Given the description of an element on the screen output the (x, y) to click on. 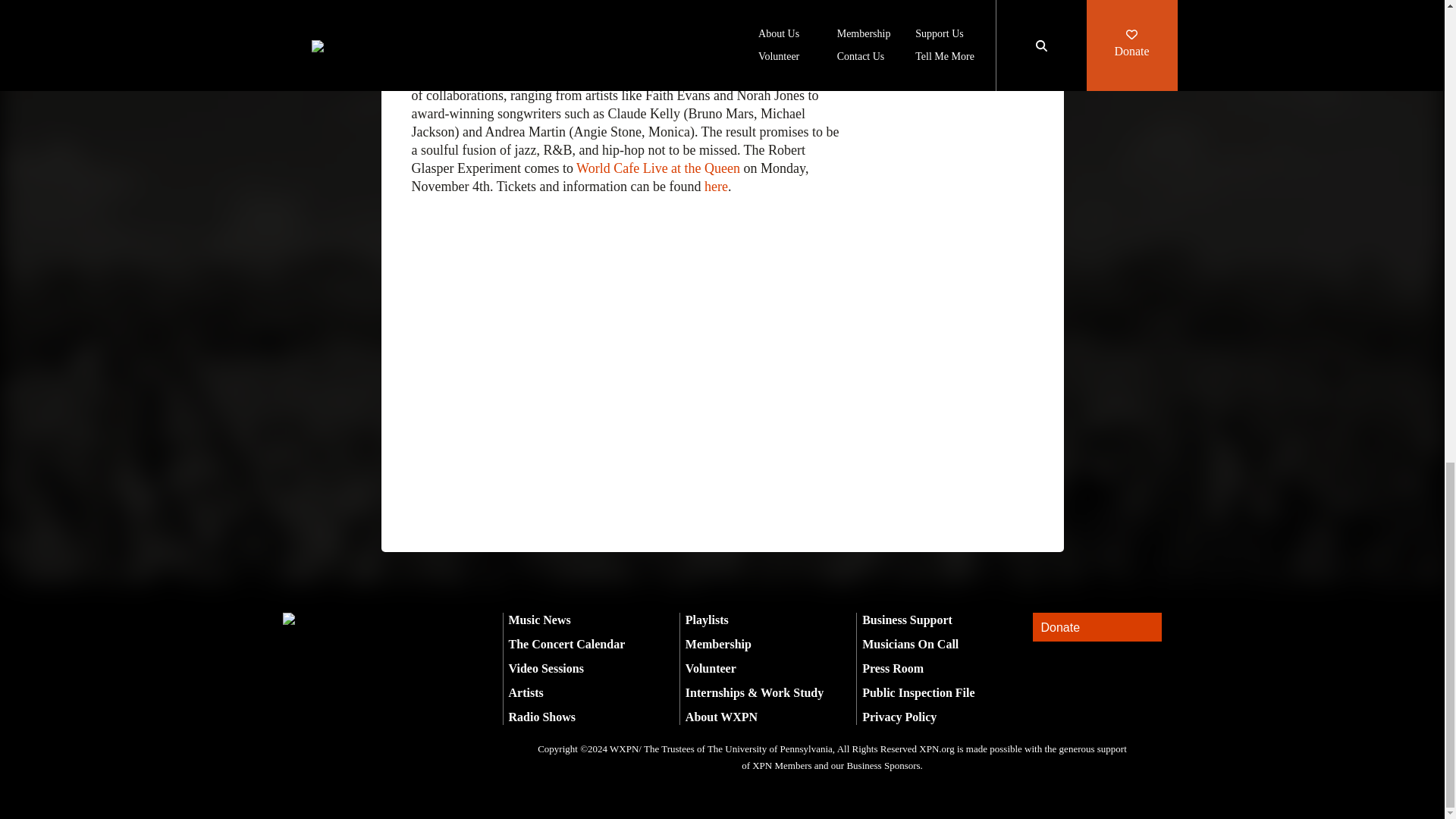
Business Support (906, 619)
About WXPN (721, 716)
Video Sessions (545, 667)
Artists (525, 692)
here (716, 186)
Volunteer (710, 667)
Playlists (707, 619)
Press Room (892, 667)
Musicians On Call (909, 644)
Music News (539, 619)
